Given the description of an element on the screen output the (x, y) to click on. 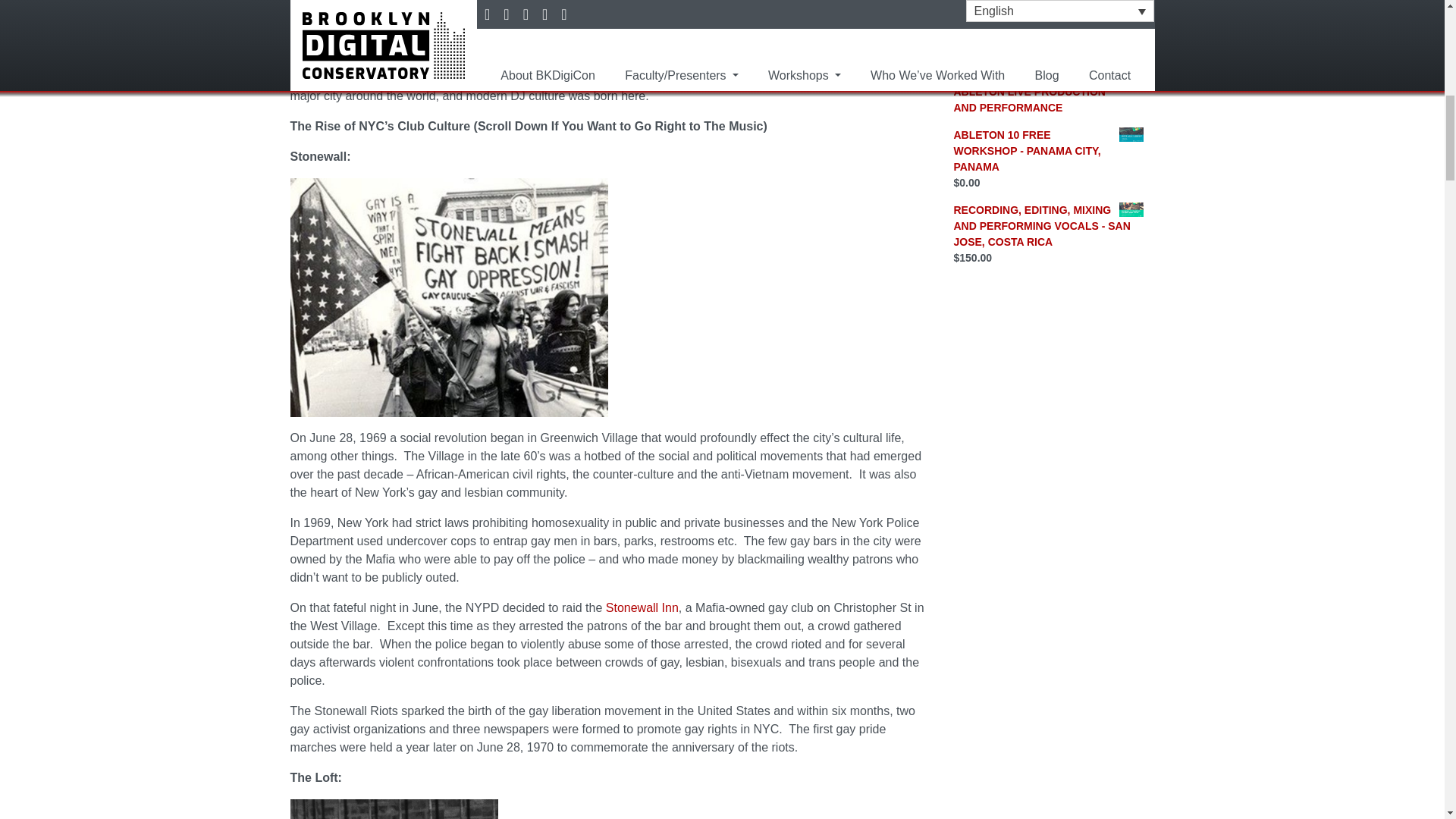
Stonewall Inn (641, 607)
